Given the description of an element on the screen output the (x, y) to click on. 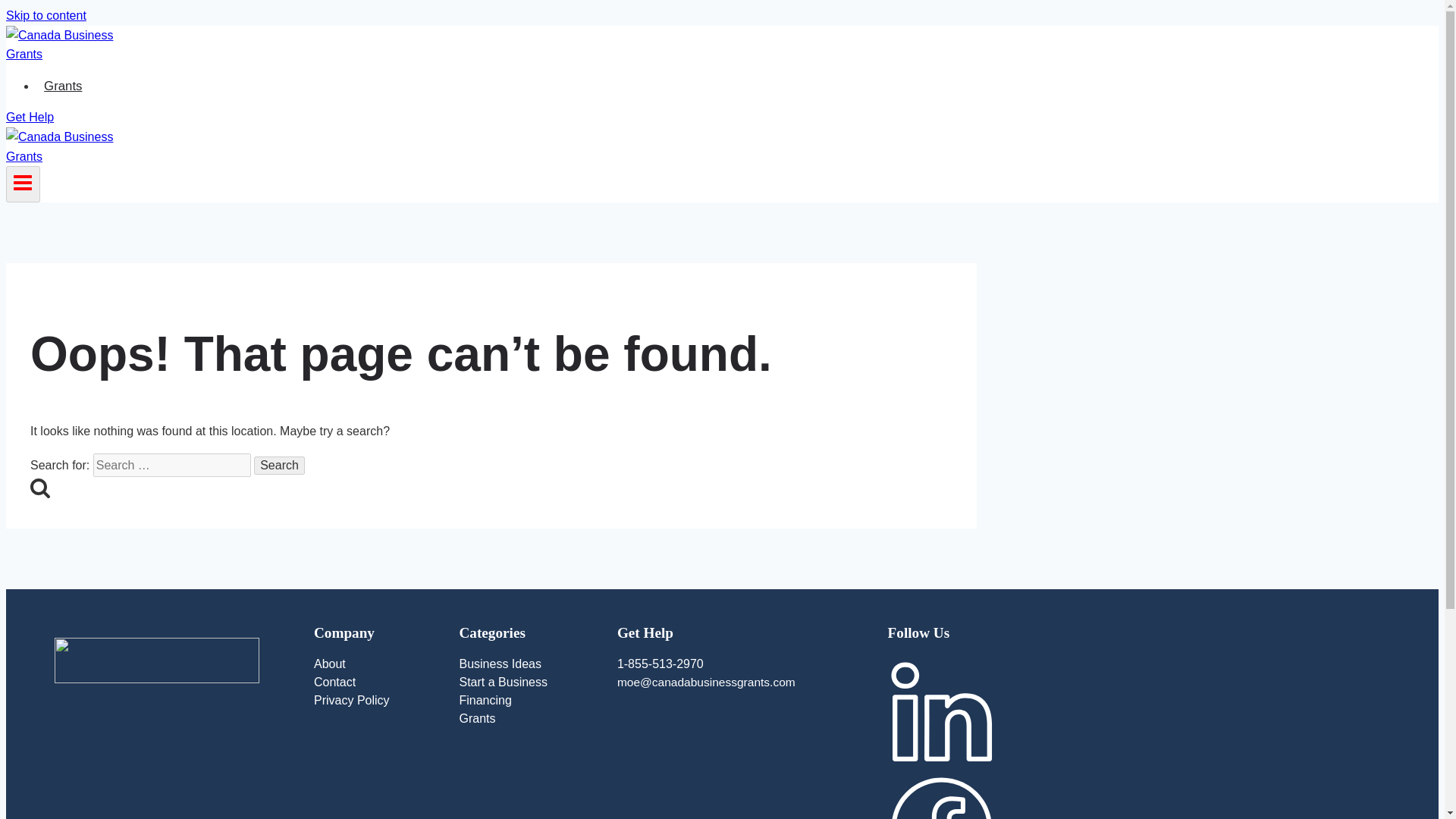
Financing (525, 703)
Grants (63, 85)
About (373, 667)
Skip to content (45, 15)
Search (278, 465)
Contact (373, 685)
Search (278, 465)
Business Ideas (525, 667)
Grants (525, 721)
Search (39, 486)
Toggle Menu (22, 182)
Get Help (29, 116)
Toggle Menu (22, 184)
Privacy Policy (373, 703)
1-855-513-2970 (740, 667)
